Given the description of an element on the screen output the (x, y) to click on. 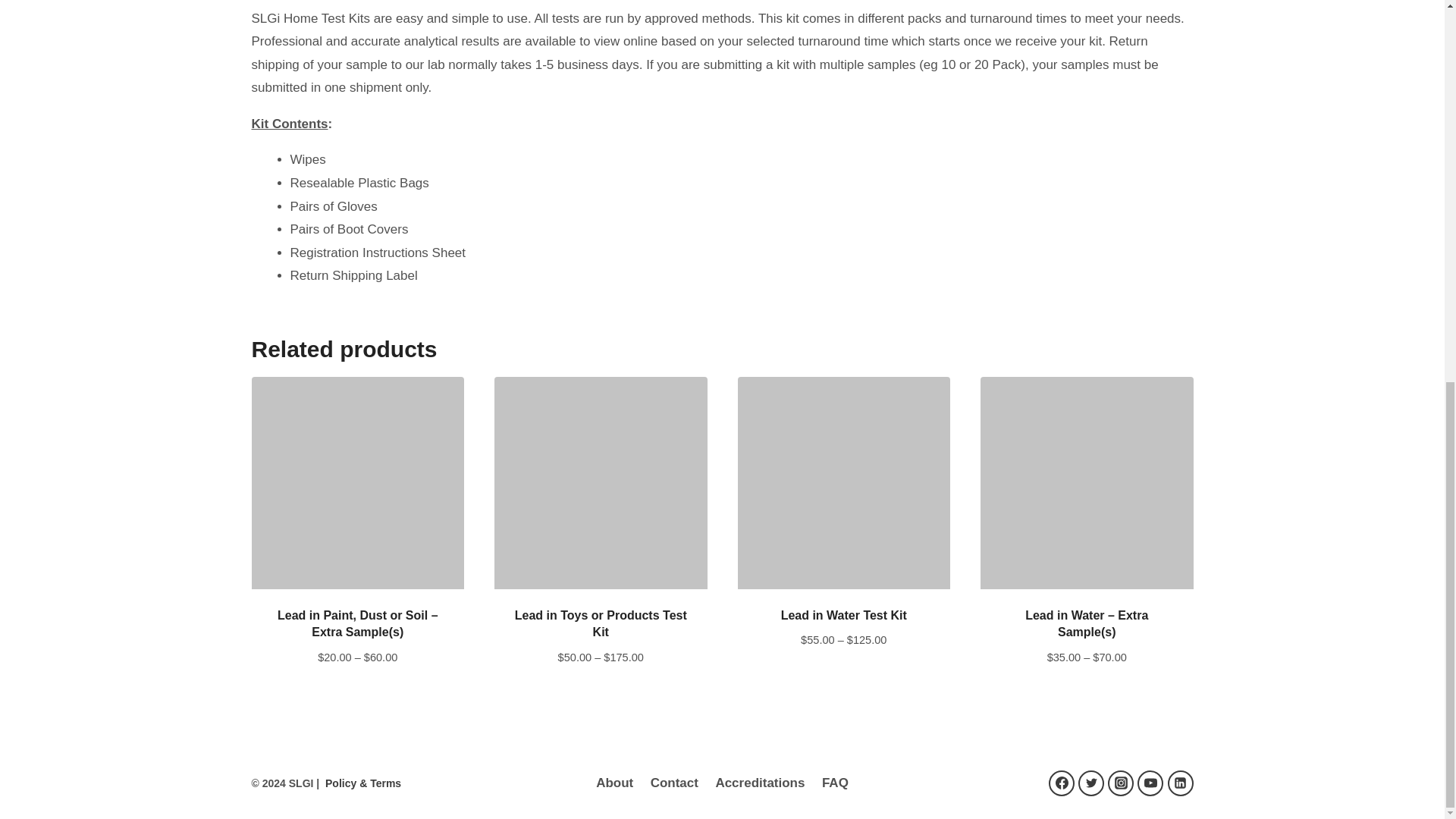
About (615, 782)
Lead in Toys or Products Test Kit (601, 623)
Contact (674, 782)
FAQ (835, 782)
Lead in Water Test Kit (843, 615)
Accreditations (759, 782)
